Given the description of an element on the screen output the (x, y) to click on. 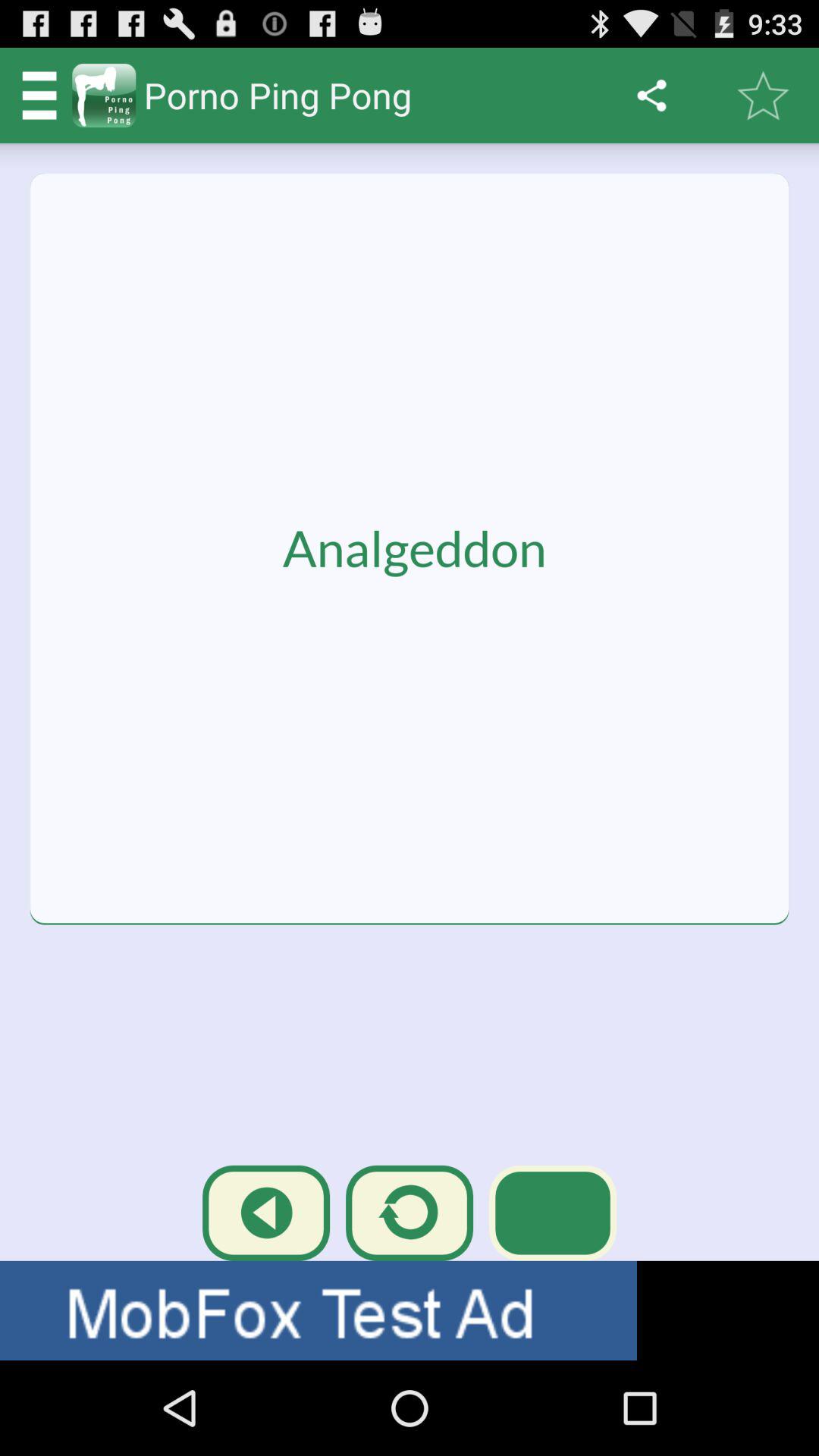
click the first icon above the text called mobfox (266, 1213)
select the replay icon (409, 1213)
click on the sharing icon (651, 95)
select the logo behind the menu icon (103, 95)
click on button next to share button (763, 95)
